Given the description of an element on the screen output the (x, y) to click on. 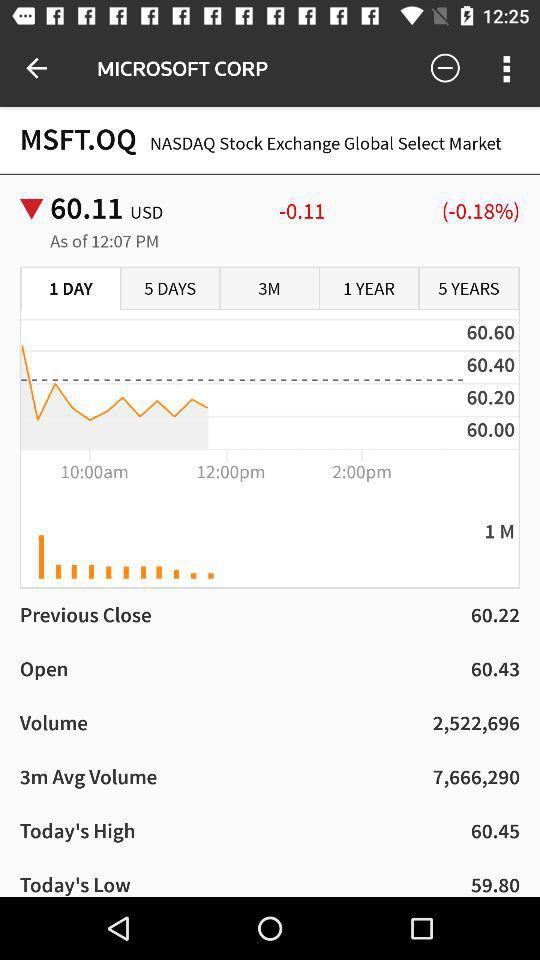
launch icon next to the 1 day item (170, 289)
